Given the description of an element on the screen output the (x, y) to click on. 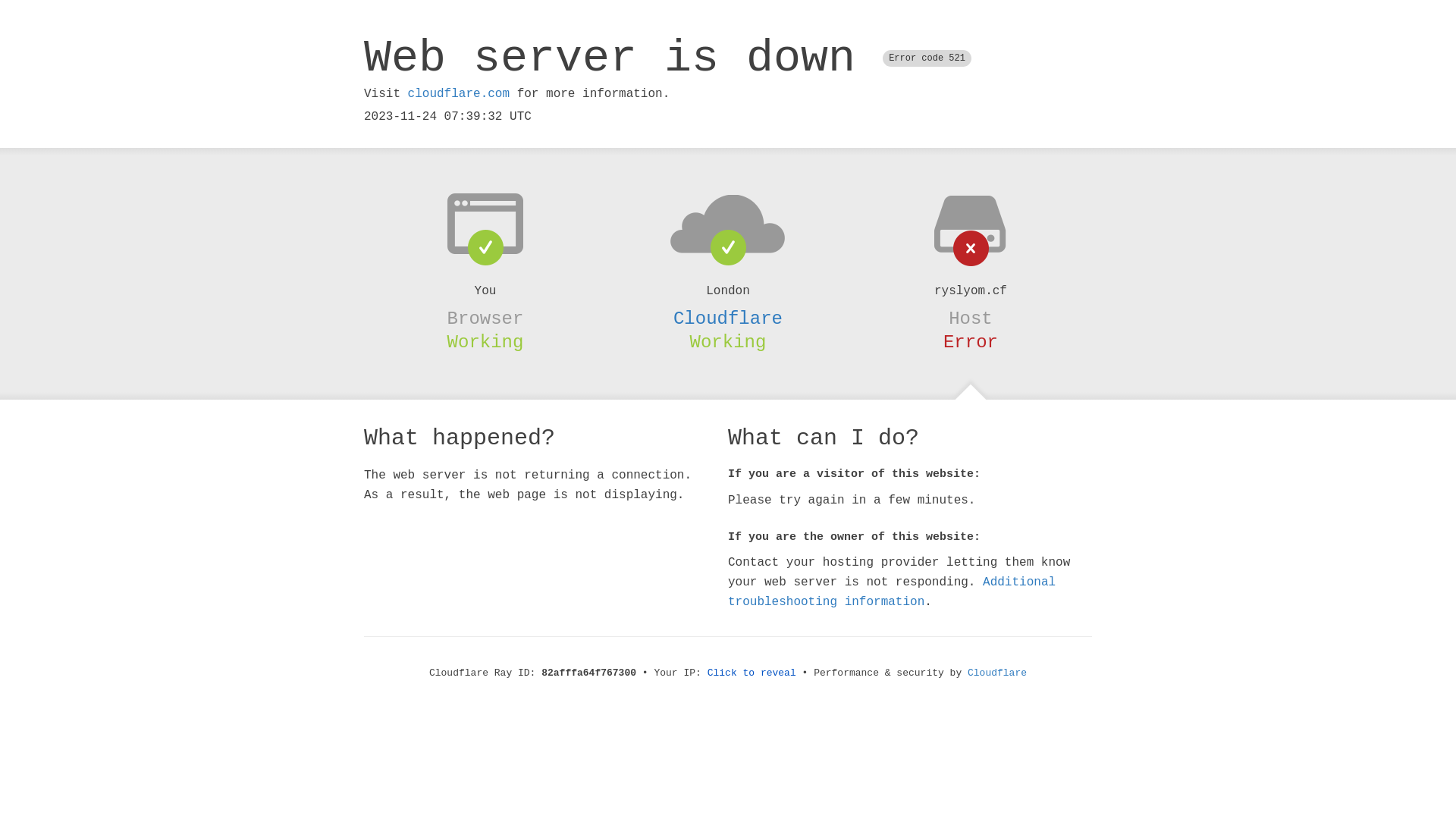
Click to reveal Element type: text (751, 672)
Cloudflare Element type: text (996, 672)
Additional troubleshooting information Element type: text (891, 591)
cloudflare.com Element type: text (458, 93)
Cloudflare Element type: text (727, 318)
